Given the description of an element on the screen output the (x, y) to click on. 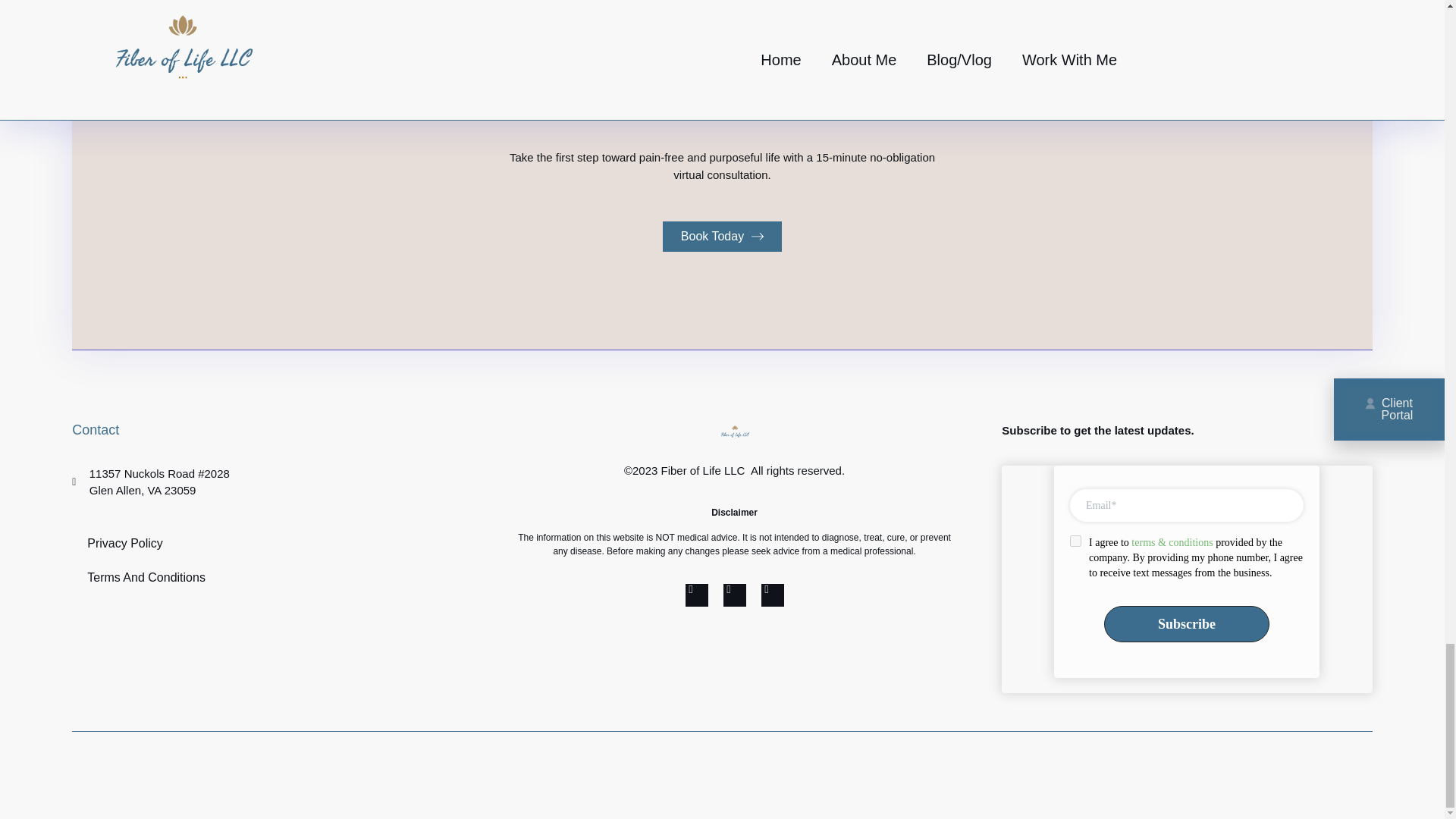
Newsletter OptIn (721, 236)
Privacy Policy (1186, 579)
Arrow-Icon-Size3 (246, 543)
Terms And Conditions (756, 235)
